Given the description of an element on the screen output the (x, y) to click on. 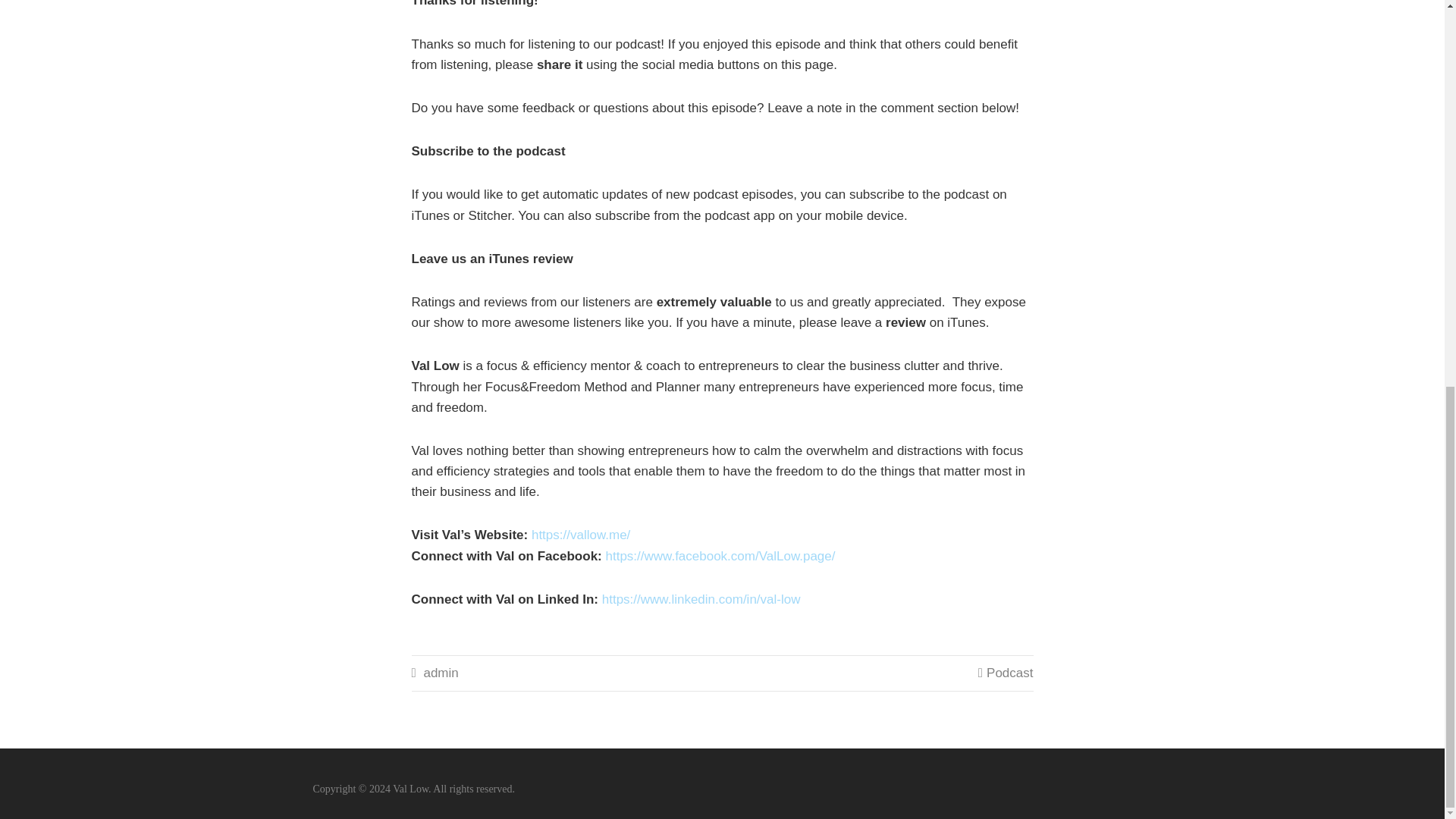
admin (440, 672)
Podcast (1009, 672)
